Given the description of an element on the screen output the (x, y) to click on. 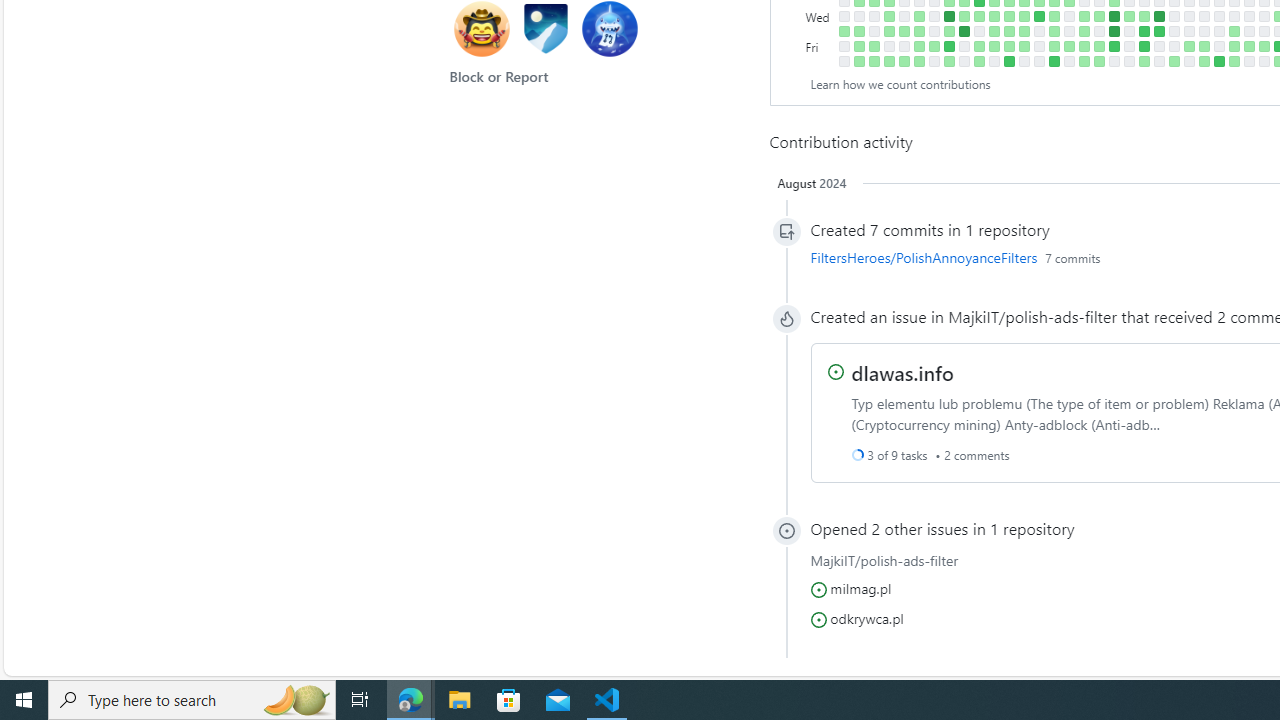
1 contribution on October 6th. (933, 46)
2 contributions on January 3rd. (1128, 16)
Learn how we count contributions (900, 84)
5 contributions on November 17th. (1023, 46)
1 contribution on October 18th. (963, 16)
2 contributions on November 29th. (1053, 16)
No contributions on February 7th. (1203, 16)
Block or Report (499, 76)
No contributions on February 1st. (1188, 30)
No contributions on January 4th. (1128, 30)
No contributions on February 14th. (1218, 16)
No contributions on February 8th. (1203, 30)
14 contributions on December 27th. (1114, 16)
2 contributions on November 1st. (993, 16)
5 contributions on December 14th. (1083, 30)
